Given the description of an element on the screen output the (x, y) to click on. 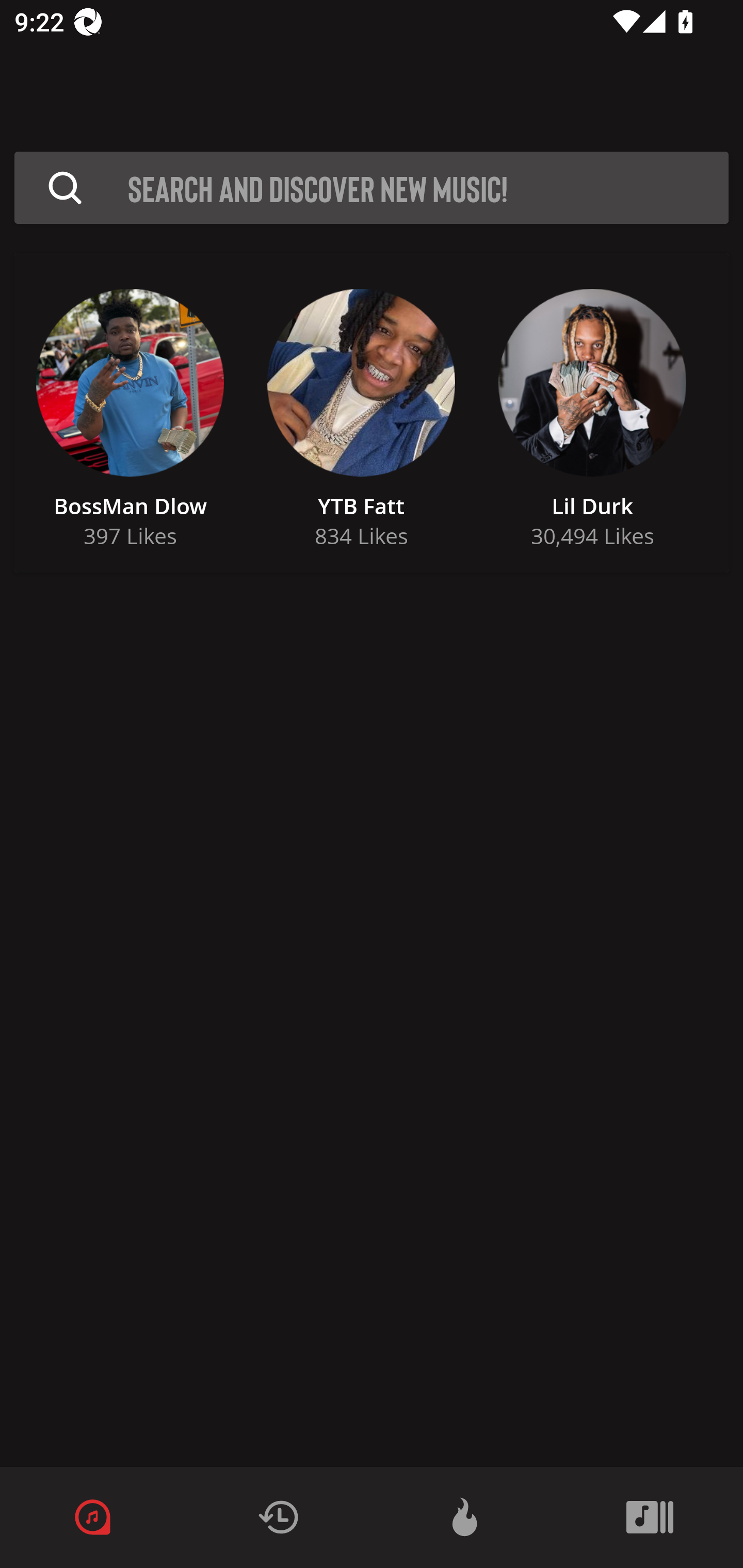
SEARCH AND DISCOVER NEW MUSIC! (427, 188)
Description (64, 188)
Description BossMan Dlow 397 Likes (129, 413)
Description YTB Fatt 834 Likes (360, 413)
Description Lil Durk 30,494 Likes (591, 413)
